Given the description of an element on the screen output the (x, y) to click on. 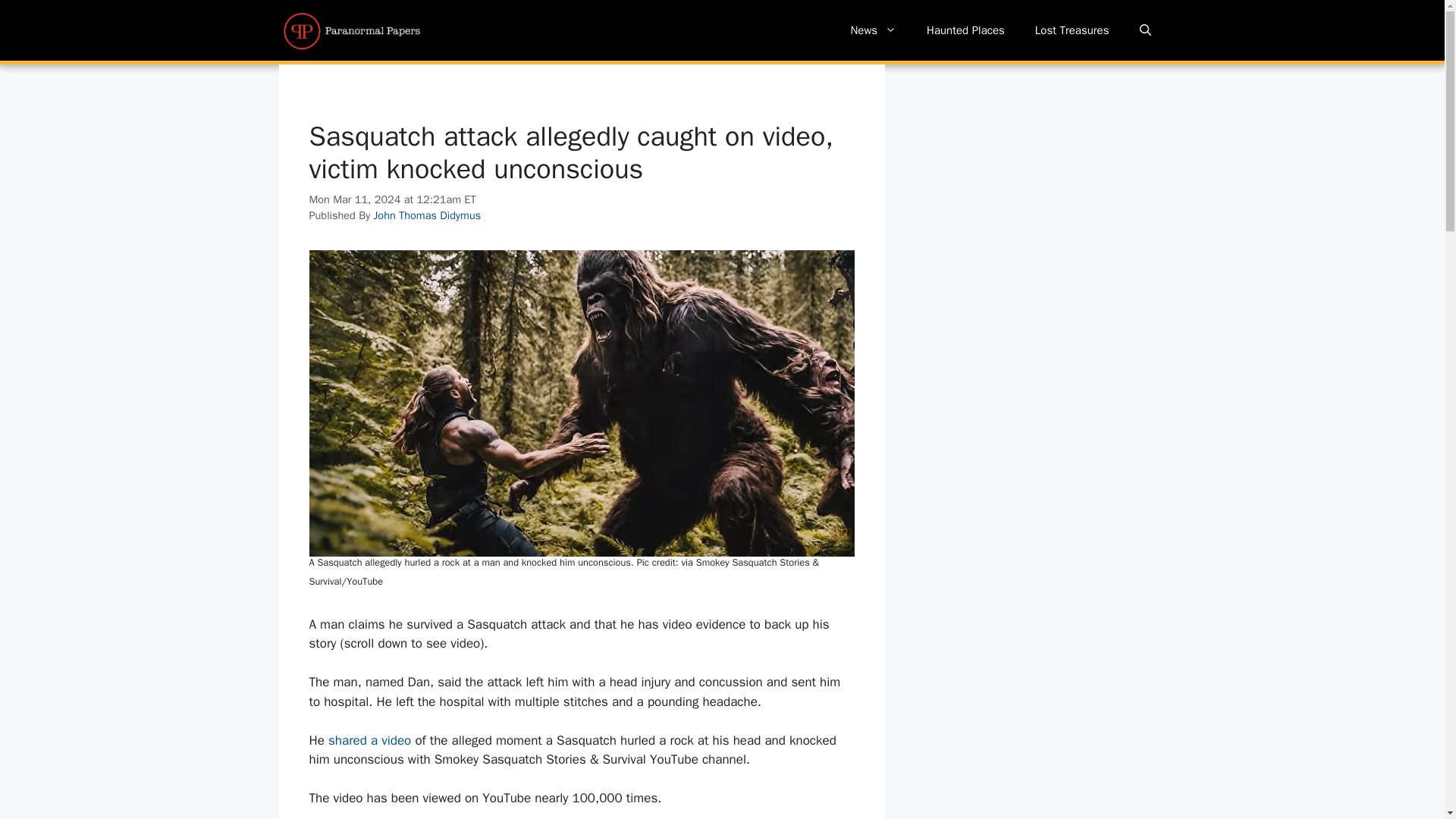
View all posts by John Thomas Didymus (427, 214)
Lost Treasures (1072, 30)
John Thomas Didymus (427, 214)
shared a video (369, 740)
Haunted Places (965, 30)
News (872, 30)
Paranormal Papers (352, 30)
